Given the description of an element on the screen output the (x, y) to click on. 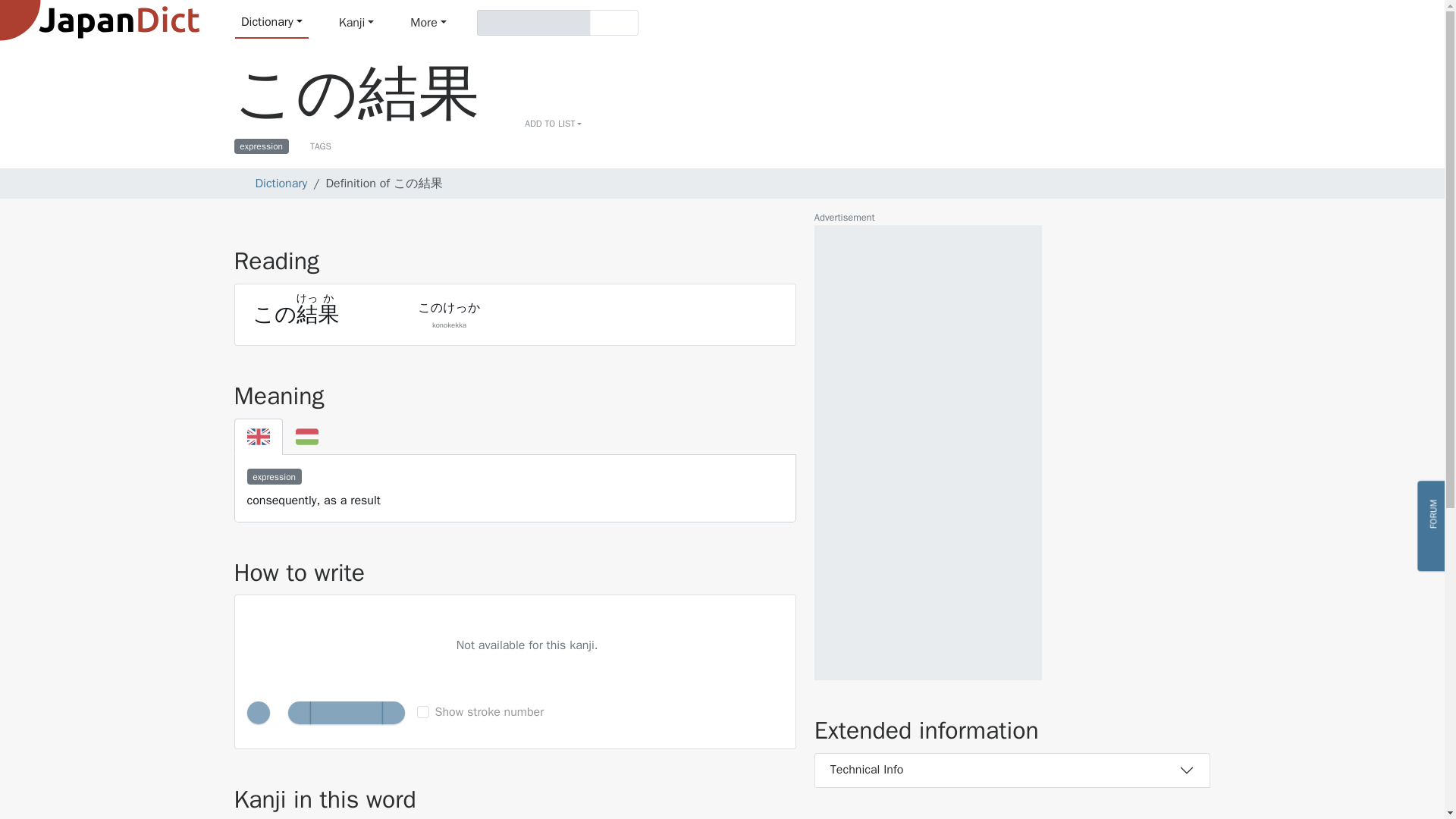
Search any word in the dictionary (271, 22)
Kanji (356, 22)
More (428, 22)
Dictionary (271, 22)
